Given the description of an element on the screen output the (x, y) to click on. 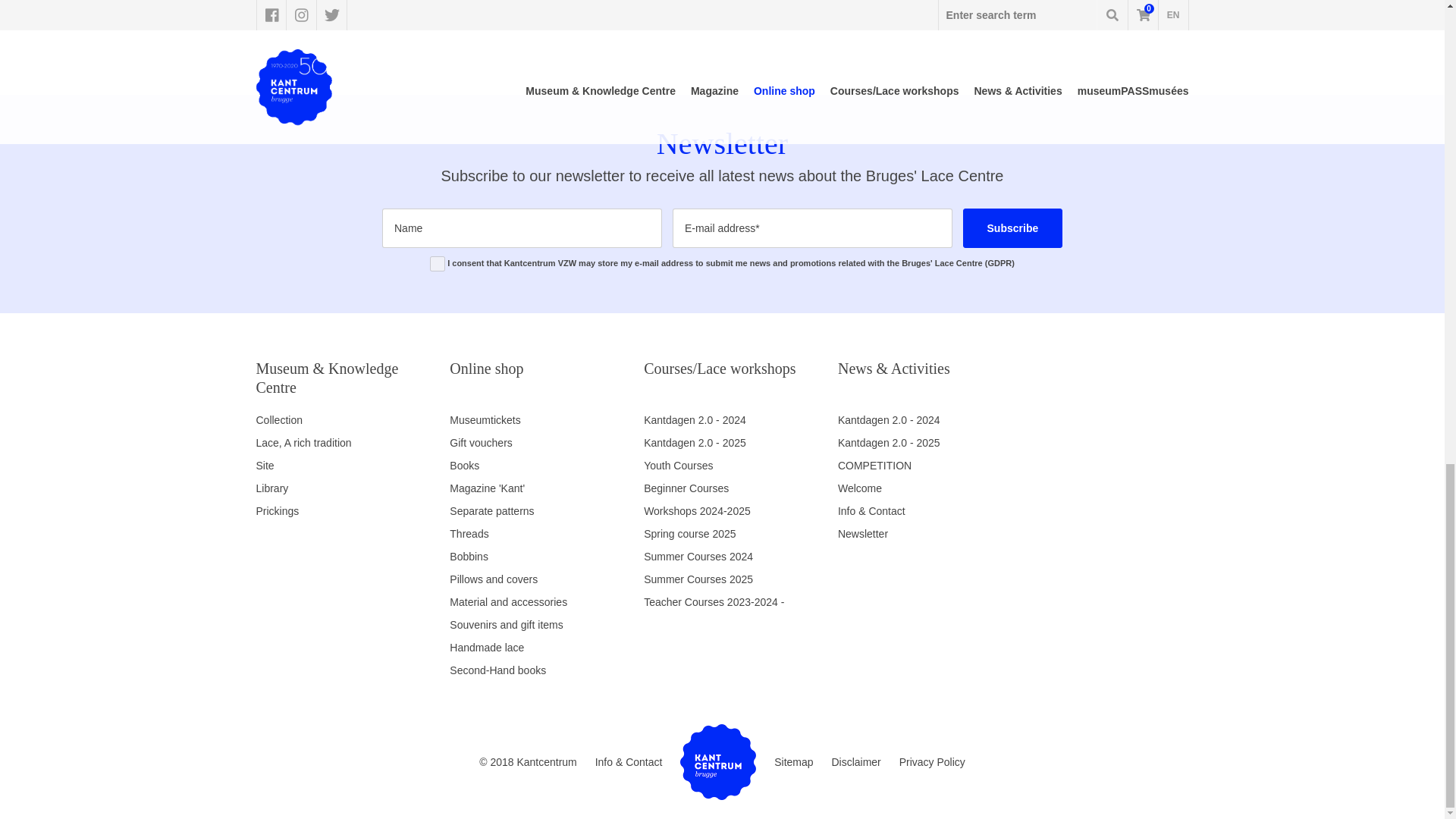
on (437, 263)
Subscribe (1012, 228)
